Given the description of an element on the screen output the (x, y) to click on. 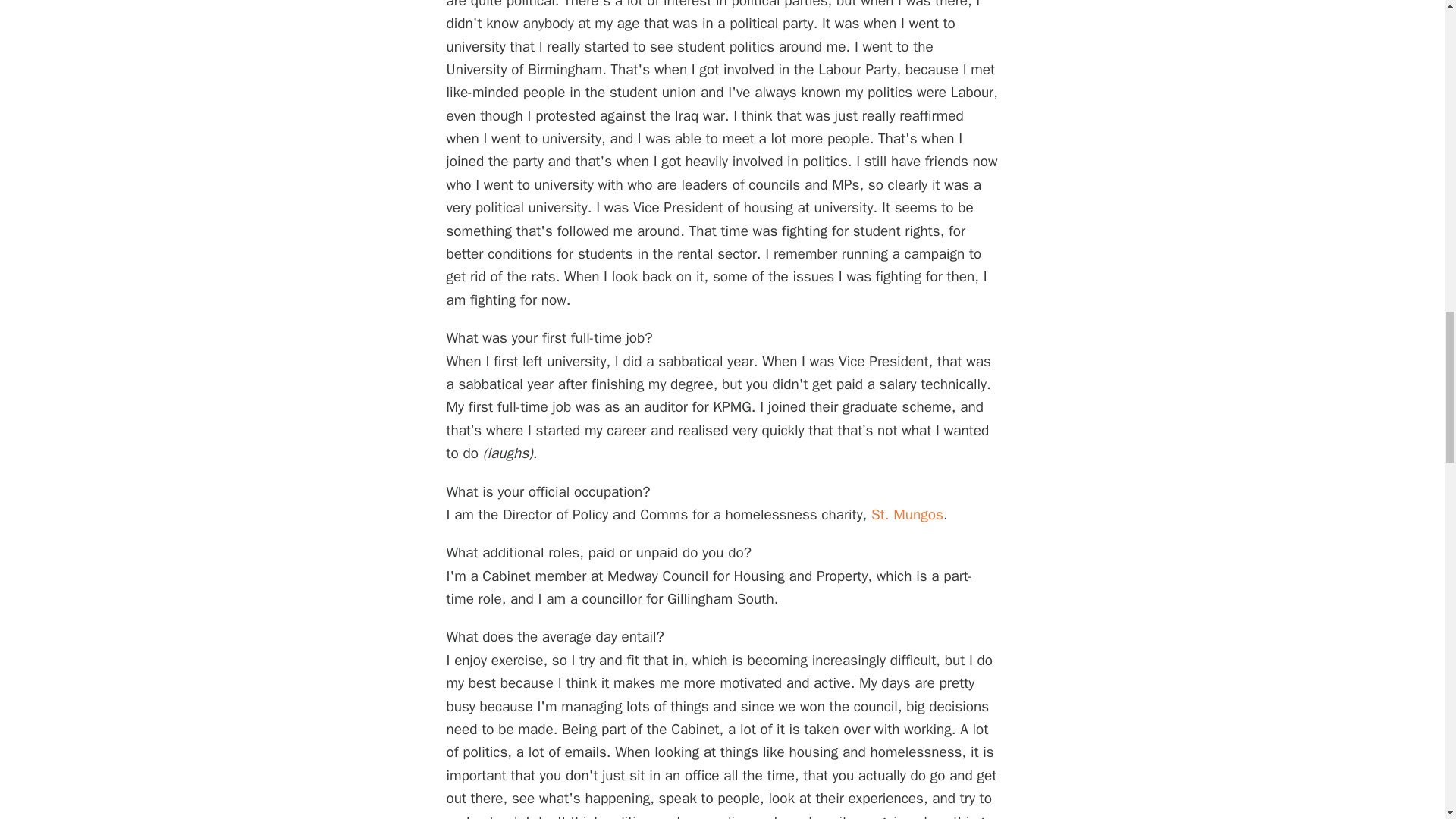
St. Mungos (906, 515)
